Given the description of an element on the screen output the (x, y) to click on. 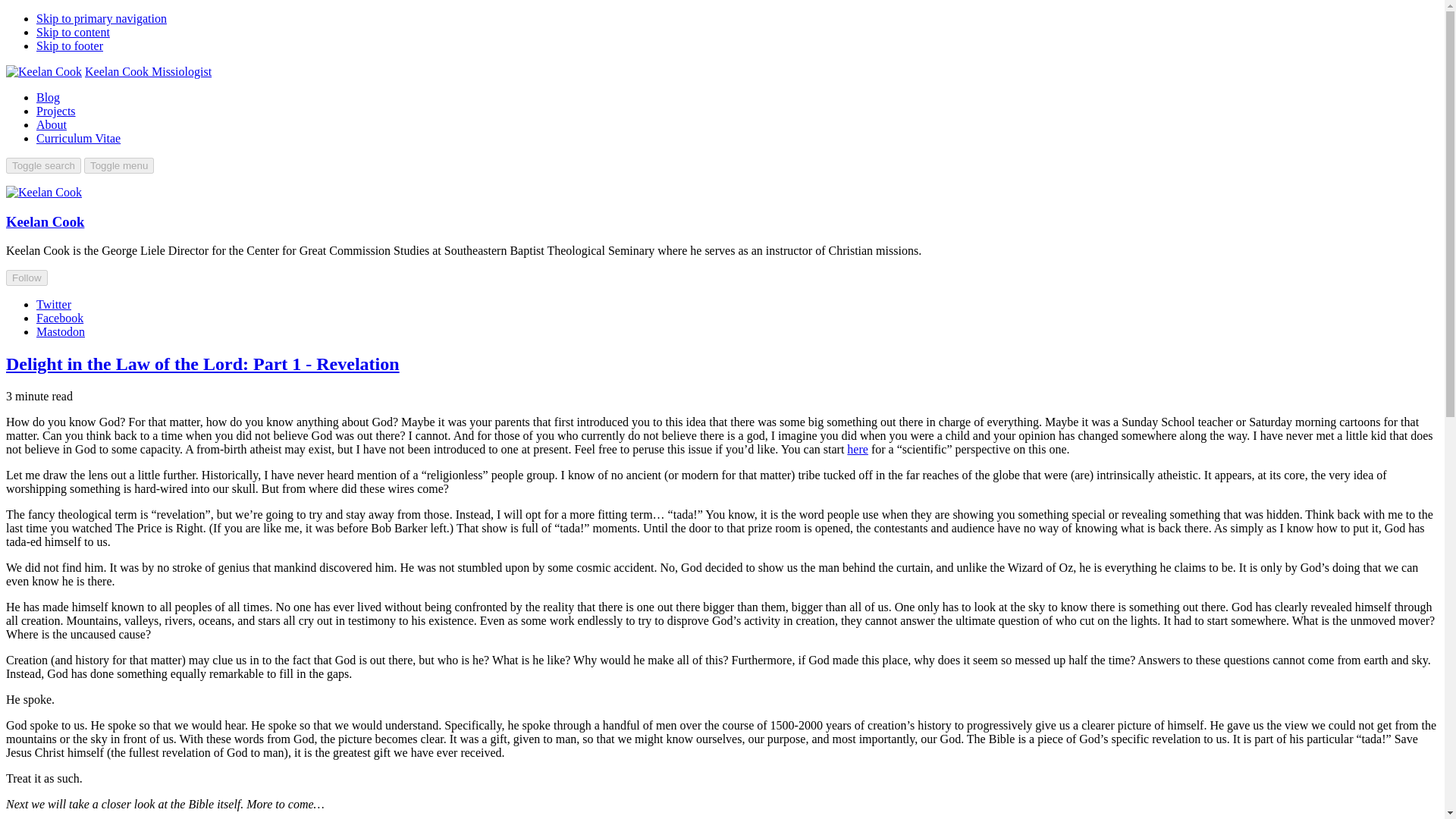
Blog (47, 97)
Skip to content (73, 31)
here (857, 449)
Projects (55, 110)
Keelan Cook Missiologist (147, 71)
Follow (26, 277)
Skip to footer (69, 45)
Facebook (59, 318)
Skip to primary navigation (101, 18)
Toggle search (43, 165)
About (51, 124)
Toggle menu (119, 165)
Delight in the Law of the Lord: Part 1 - Revelation (201, 363)
Keelan Cook (44, 221)
Curriculum Vitae (78, 137)
